Given the description of an element on the screen output the (x, y) to click on. 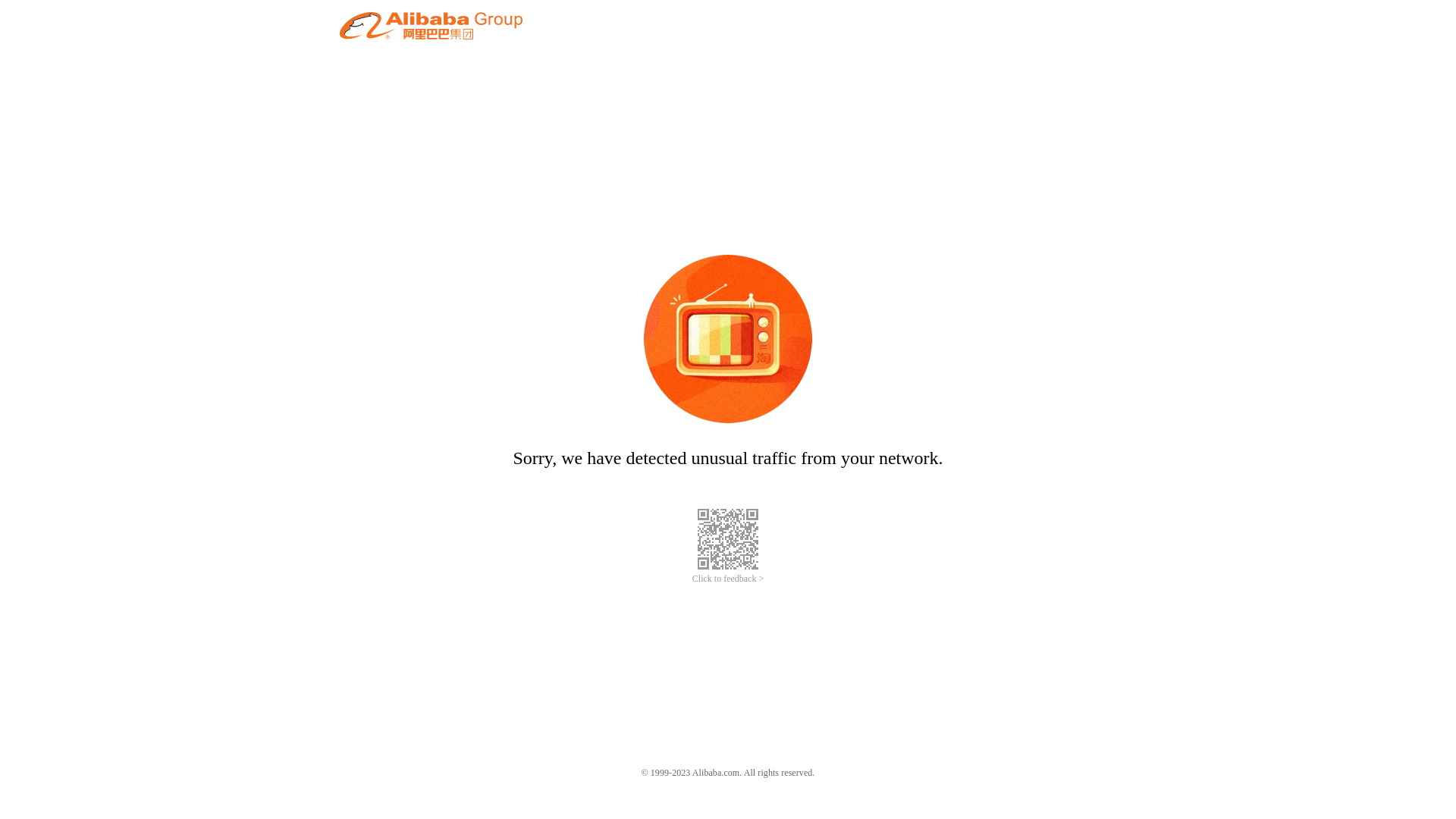
Click to feedback > Element type: text (727, 578)
